Given the description of an element on the screen output the (x, y) to click on. 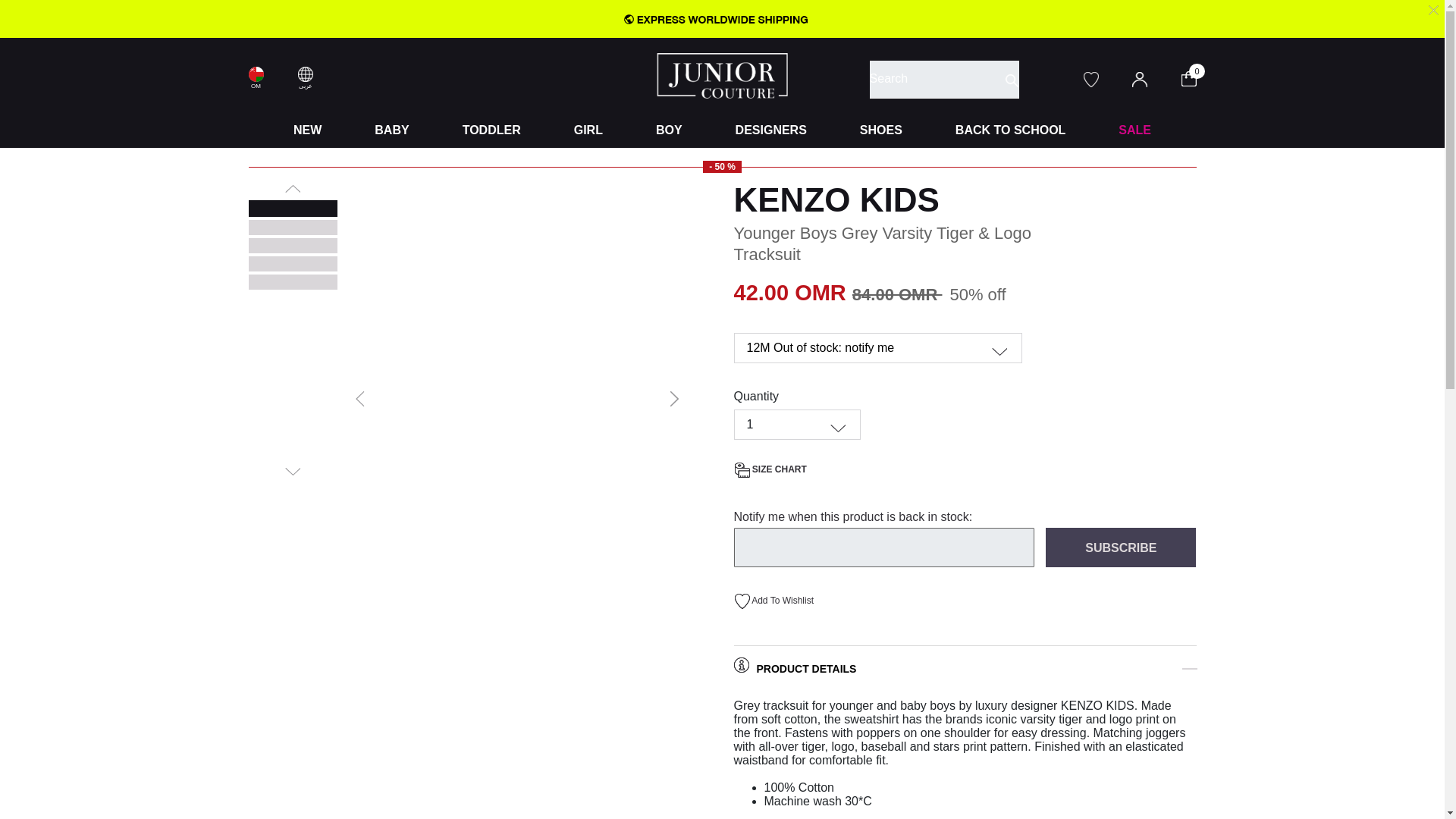
0 (1197, 77)
Juniour Couture Home (721, 74)
Cart 0 Items (1197, 77)
